Given the description of an element on the screen output the (x, y) to click on. 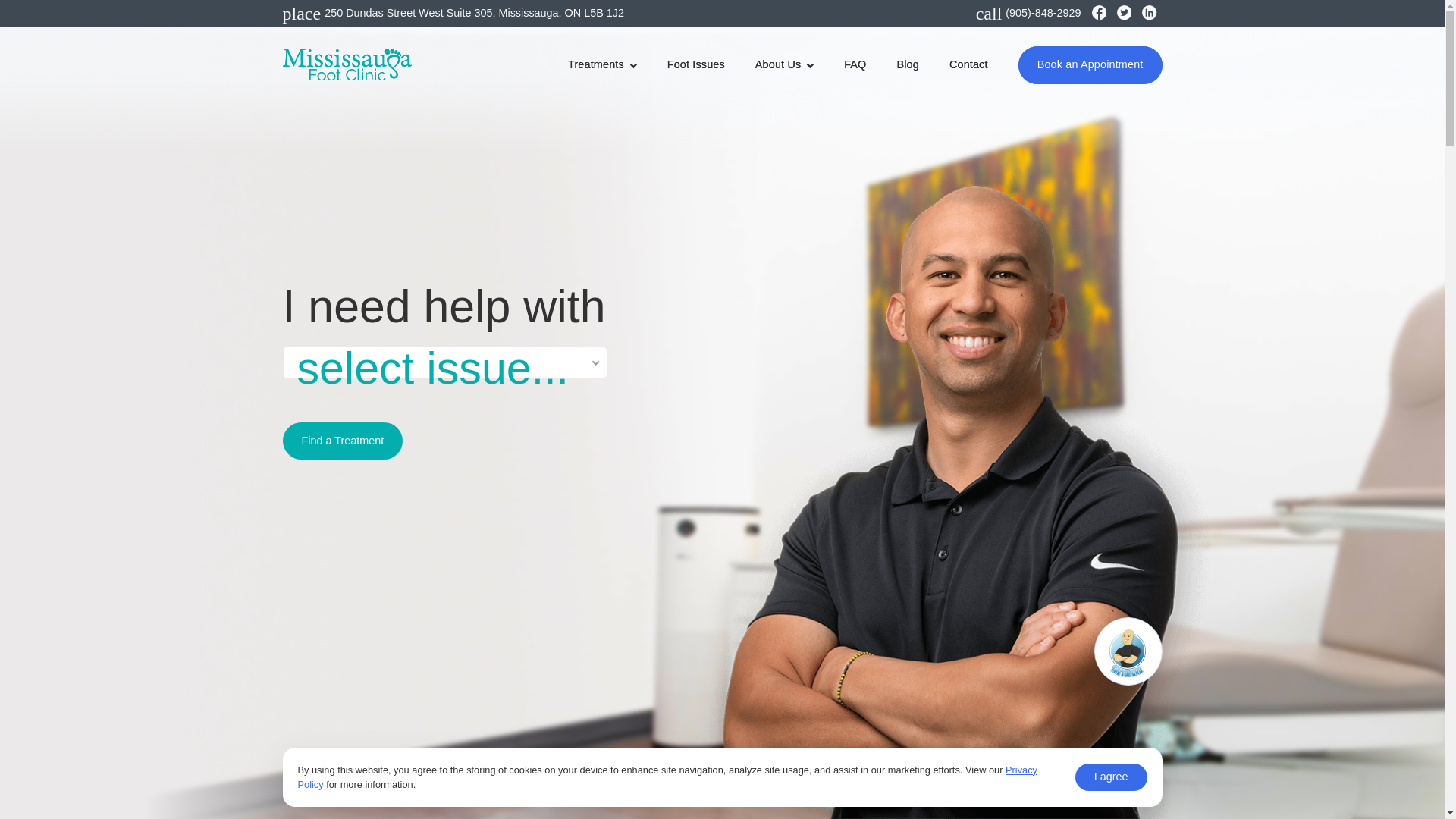
Book an Appointment (1089, 64)
Find a Treatment (342, 440)
Foot Issues (695, 65)
I agree (1111, 777)
Contact (968, 65)
Privacy Policy (666, 777)
